Given the description of an element on the screen output the (x, y) to click on. 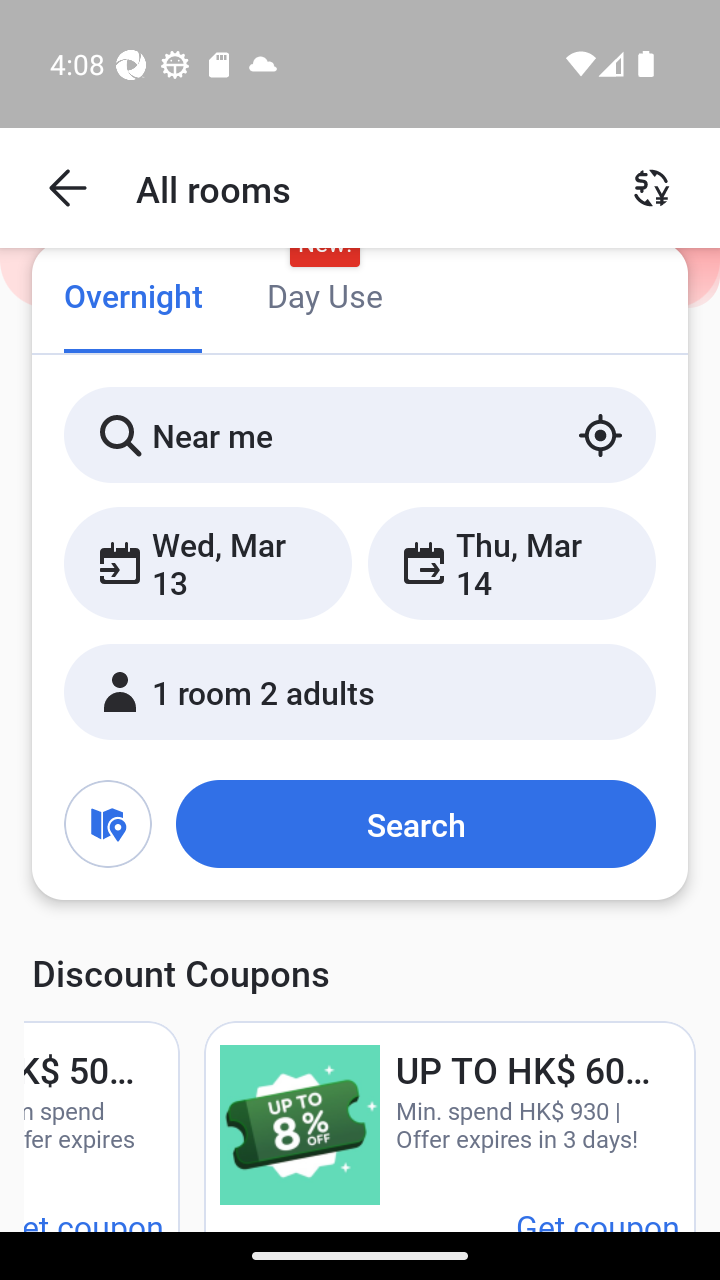
Day Use (324, 298)
Near me (359, 434)
Wed, Mar 13 (208, 562)
Thu, Mar 14 (511, 562)
1 room 2 adults (359, 691)
Search (415, 823)
